Given the description of an element on the screen output the (x, y) to click on. 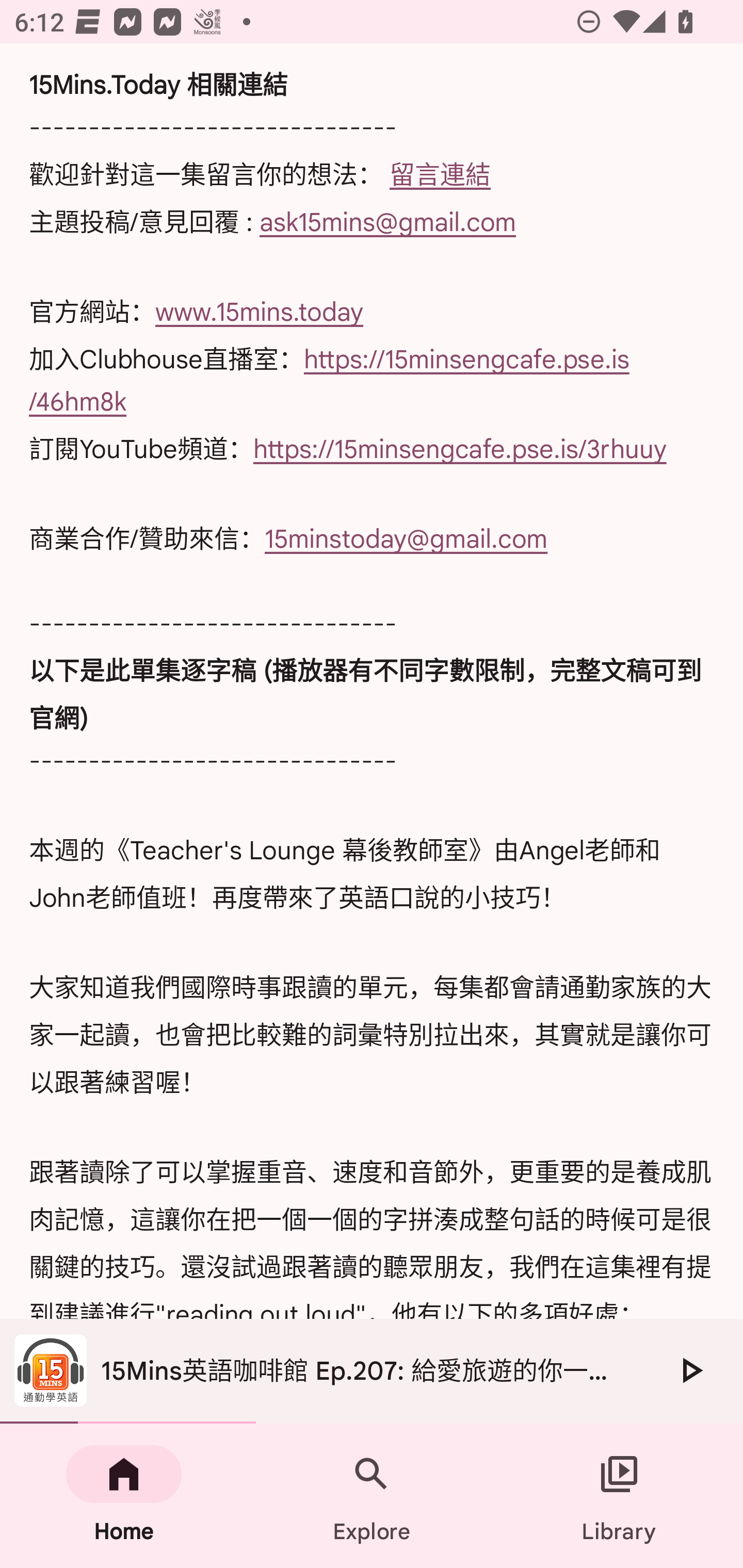
Play (690, 1370)
Explore (371, 1495)
Library (619, 1495)
